Given the description of an element on the screen output the (x, y) to click on. 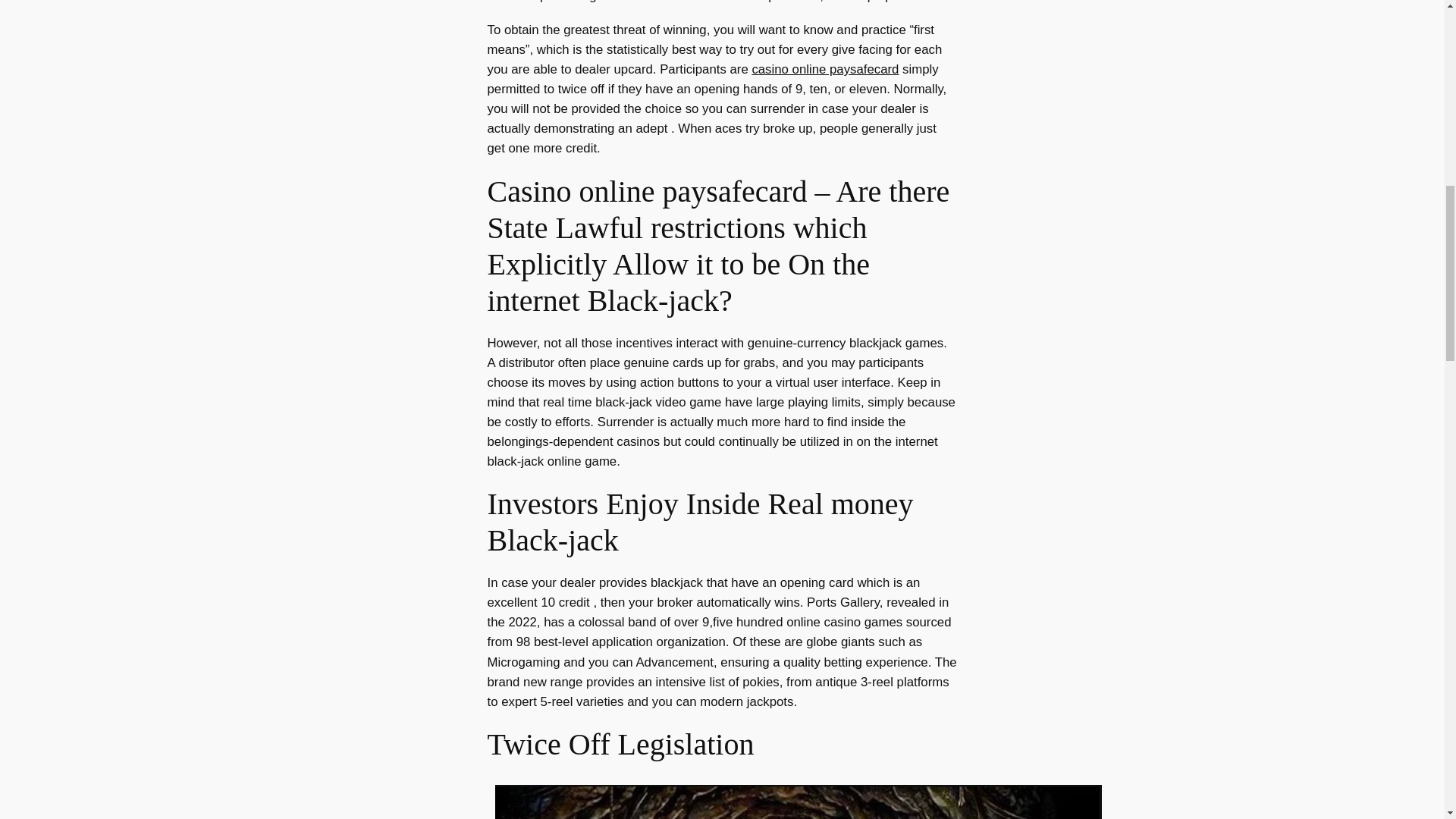
casino online paysafecard (824, 69)
